Given the description of an element on the screen output the (x, y) to click on. 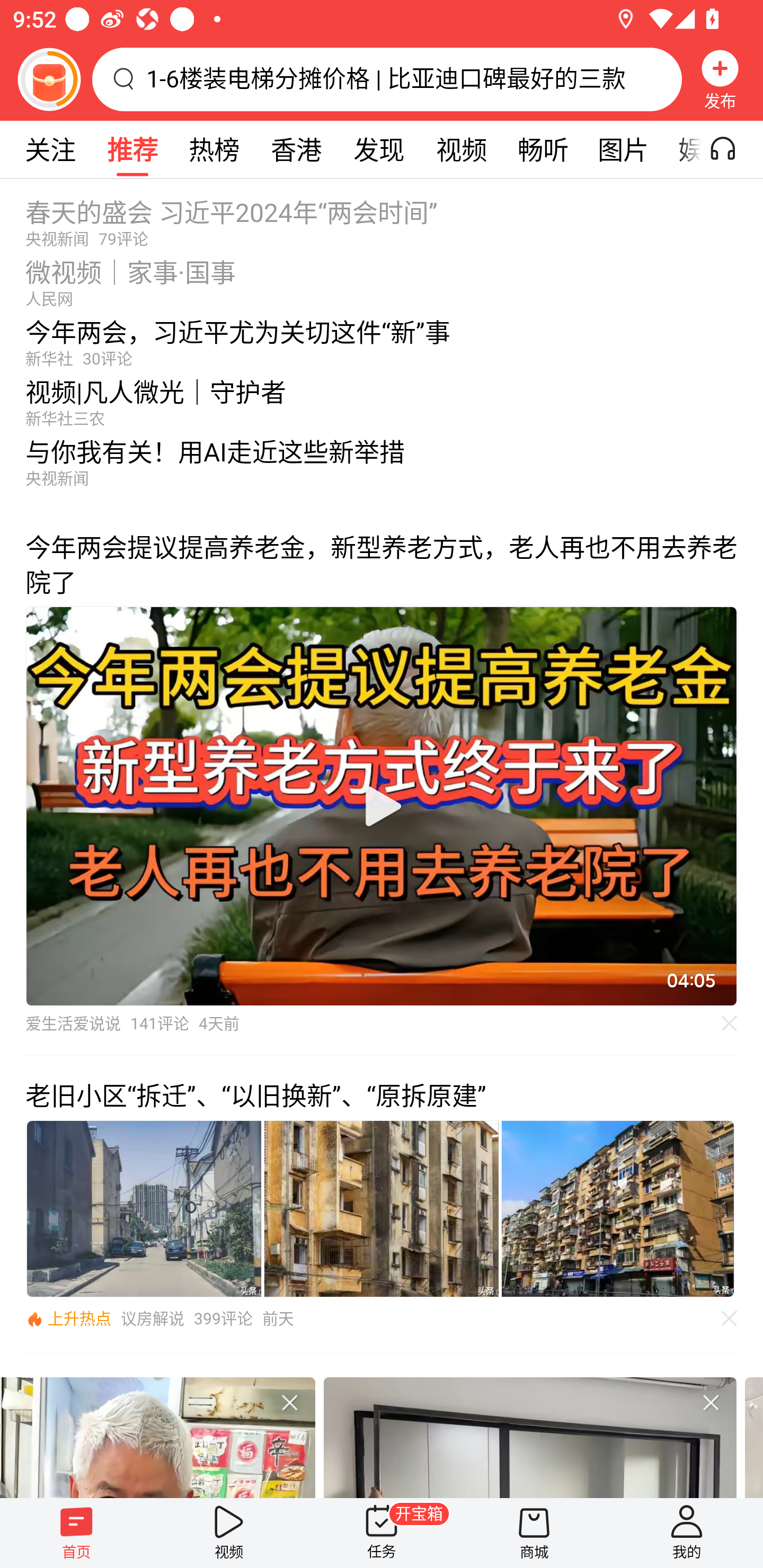
阅读赚金币 (48, 79)
发布 发布，按钮 (720, 78)
关注 (50, 149)
推荐 (132, 149)
热榜 (213, 149)
香港 (295, 149)
发现 (378, 149)
视频 (461, 149)
畅听 (542, 149)
图片 (623, 149)
听一听开关 (732, 149)
微视频｜家事·国事人民网 视频 微视频｜家事·国事 人民网 (381, 277)
视频|凡人微光｜守护者新华社三农 文章 视频|凡人微光｜守护者 新华社三农 (381, 398)
与你我有关！用AI走近这些新举措央视新闻 文章 与你我有关！用AI走近这些新举措 央视新闻 (381, 467)
播放视频 视频播放器，双击屏幕打开播放控制 (381, 805)
播放视频 (381, 806)
不感兴趣 (729, 1023)
内容图片 (143, 1208)
内容图片 (381, 1208)
内容图片 (617, 1208)
不感兴趣 (729, 1318)
不感兴趣 (289, 1402)
不感兴趣 (711, 1402)
首页 (76, 1532)
视频 (228, 1532)
任务 开宝箱 (381, 1532)
商城 (533, 1532)
我的 (686, 1532)
